Given the description of an element on the screen output the (x, y) to click on. 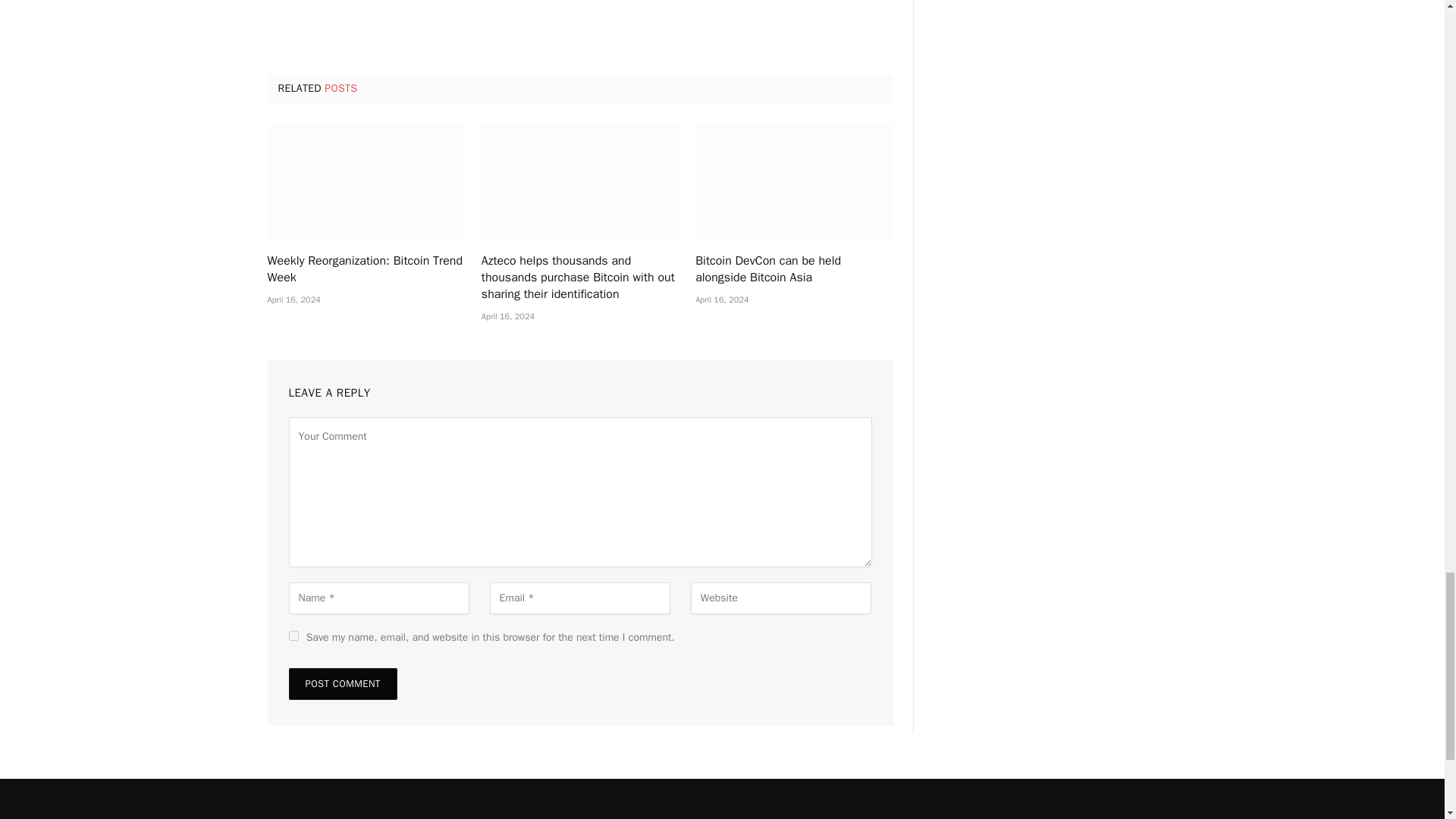
Post Comment (342, 684)
yes (293, 635)
Weekly Reorganization: Bitcoin Trend Week (365, 269)
Bitcoin DevCon can be held alongside Bitcoin Asia (793, 182)
Weekly Reorganization: Bitcoin Trend Week (365, 182)
